Given the description of an element on the screen output the (x, y) to click on. 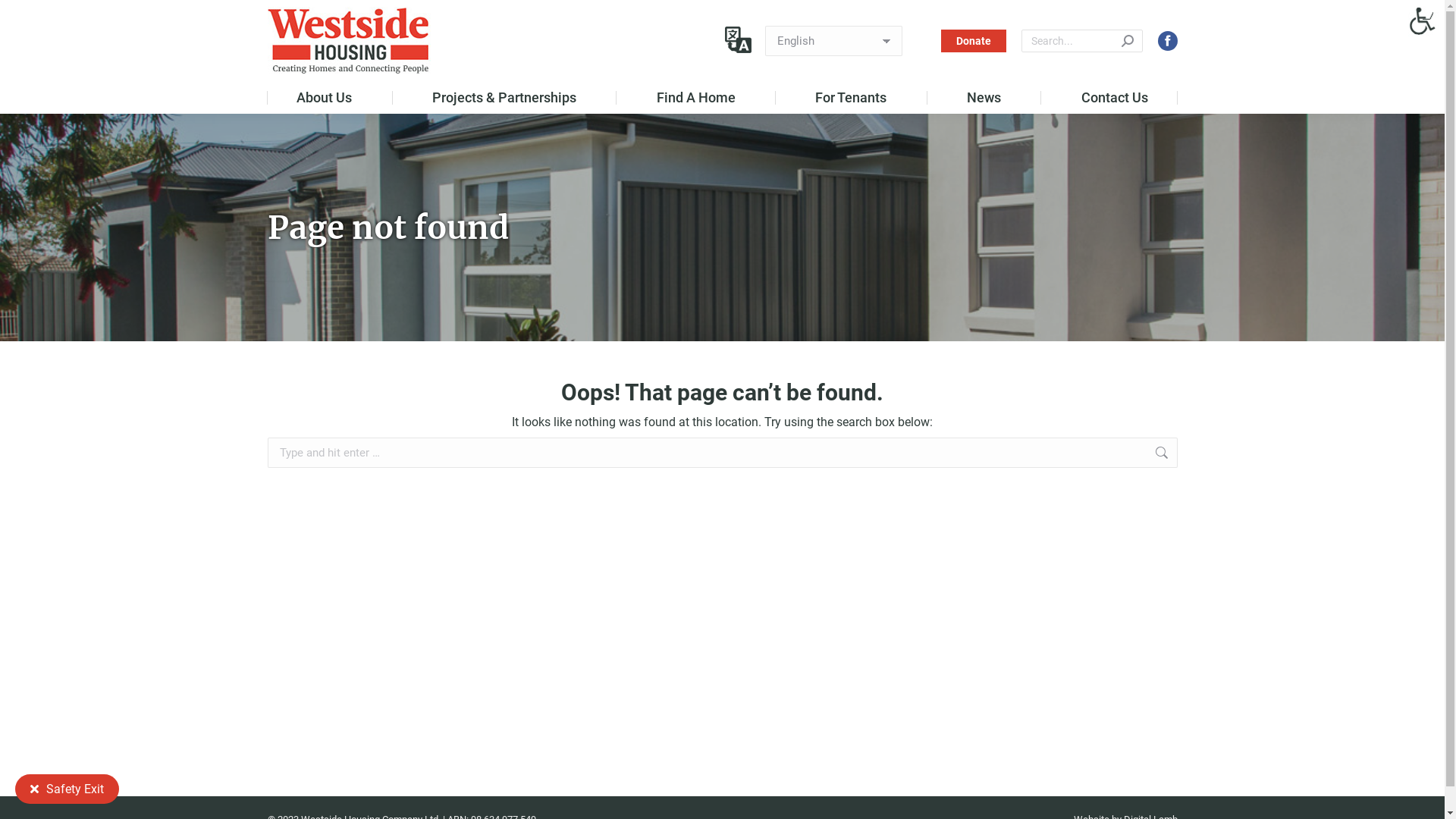
Accessibility Helper sidebar Element type: hover (1426, 18)
Facebook page opens in new window Element type: text (1166, 40)
Go! Element type: text (23, 16)
Search form Element type: hover (1081, 40)
Go! Element type: text (1199, 453)
For Tenants Element type: text (851, 97)
Projects & Partnerships Element type: text (503, 97)
Safety Exit Element type: text (67, 788)
Find A Home Element type: text (696, 97)
Donate Element type: text (972, 40)
News Element type: text (983, 97)
About Us Element type: text (323, 97)
Contact Us Element type: text (1114, 97)
